Given the description of an element on the screen output the (x, y) to click on. 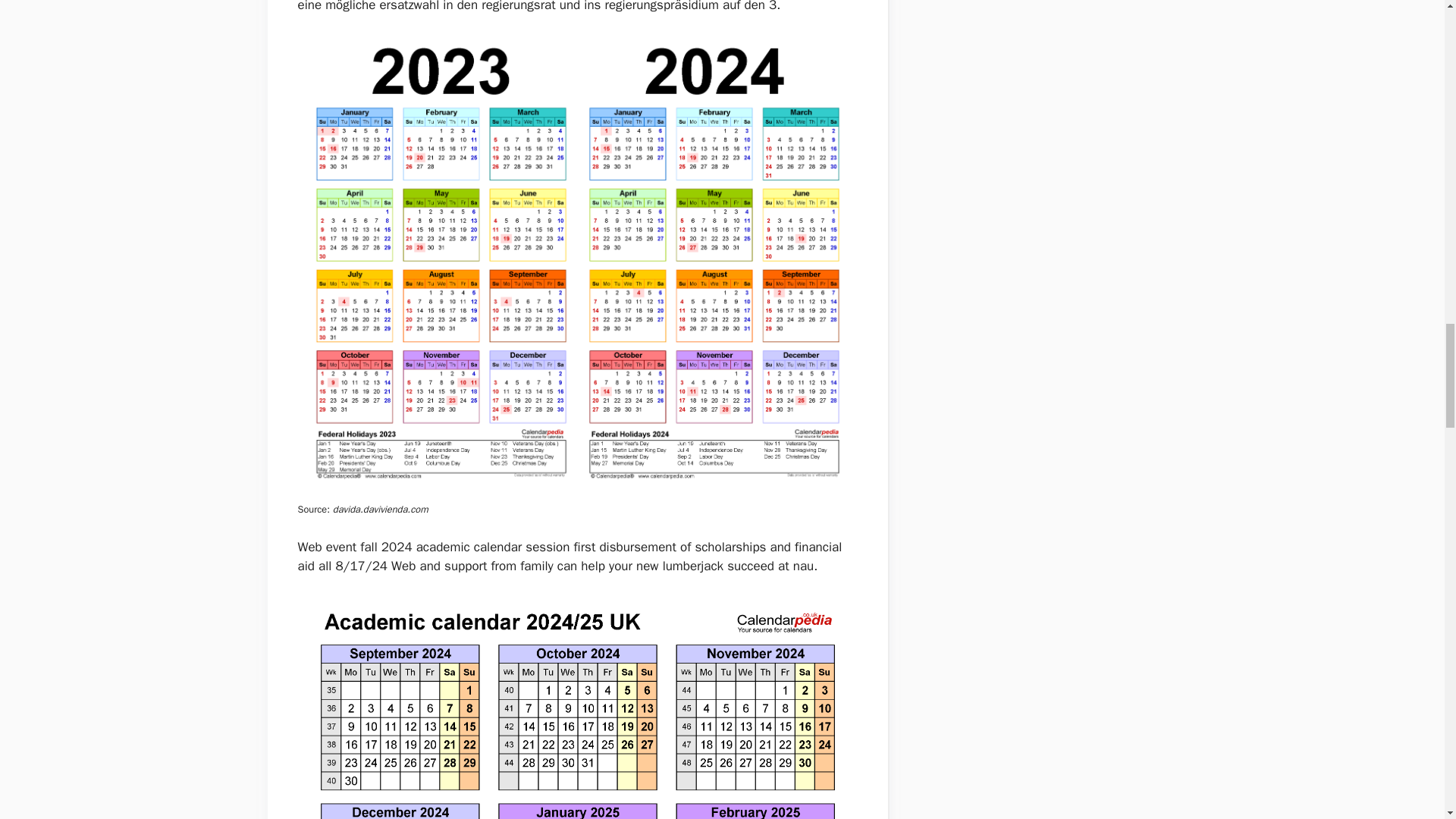
Nau Fall 2024 Calendar (577, 707)
